Given the description of an element on the screen output the (x, y) to click on. 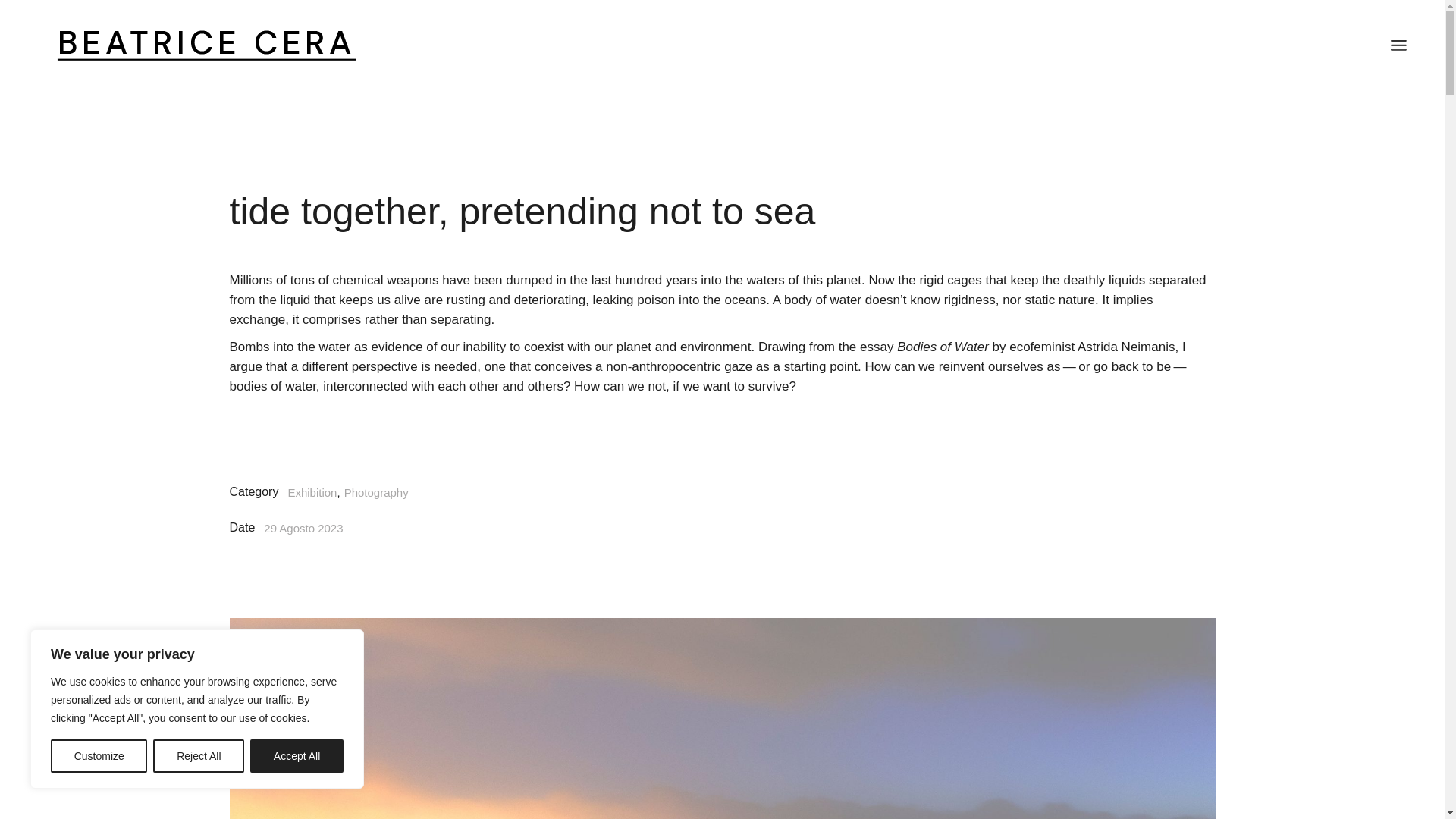
Customize (98, 756)
Reject All (198, 756)
Photography (376, 492)
Accept All (296, 756)
Exhibition (311, 492)
